Given the description of an element on the screen output the (x, y) to click on. 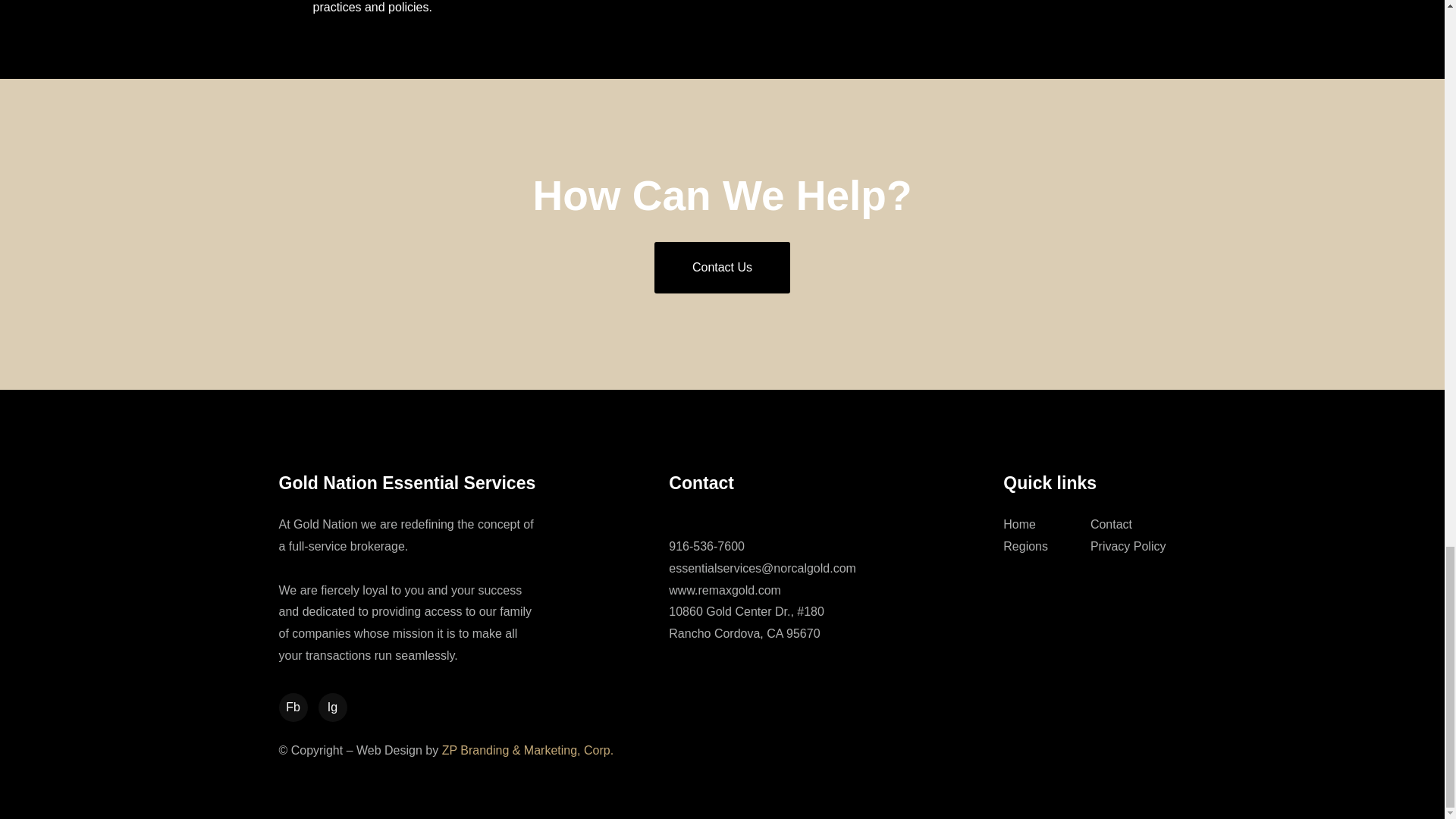
Regions (1025, 545)
Contact (1111, 523)
Follow on Facebook (292, 706)
Home (1019, 523)
Privacy Policy (1128, 545)
Follow on Instagram (332, 706)
Contact Us (721, 266)
